Given the description of an element on the screen output the (x, y) to click on. 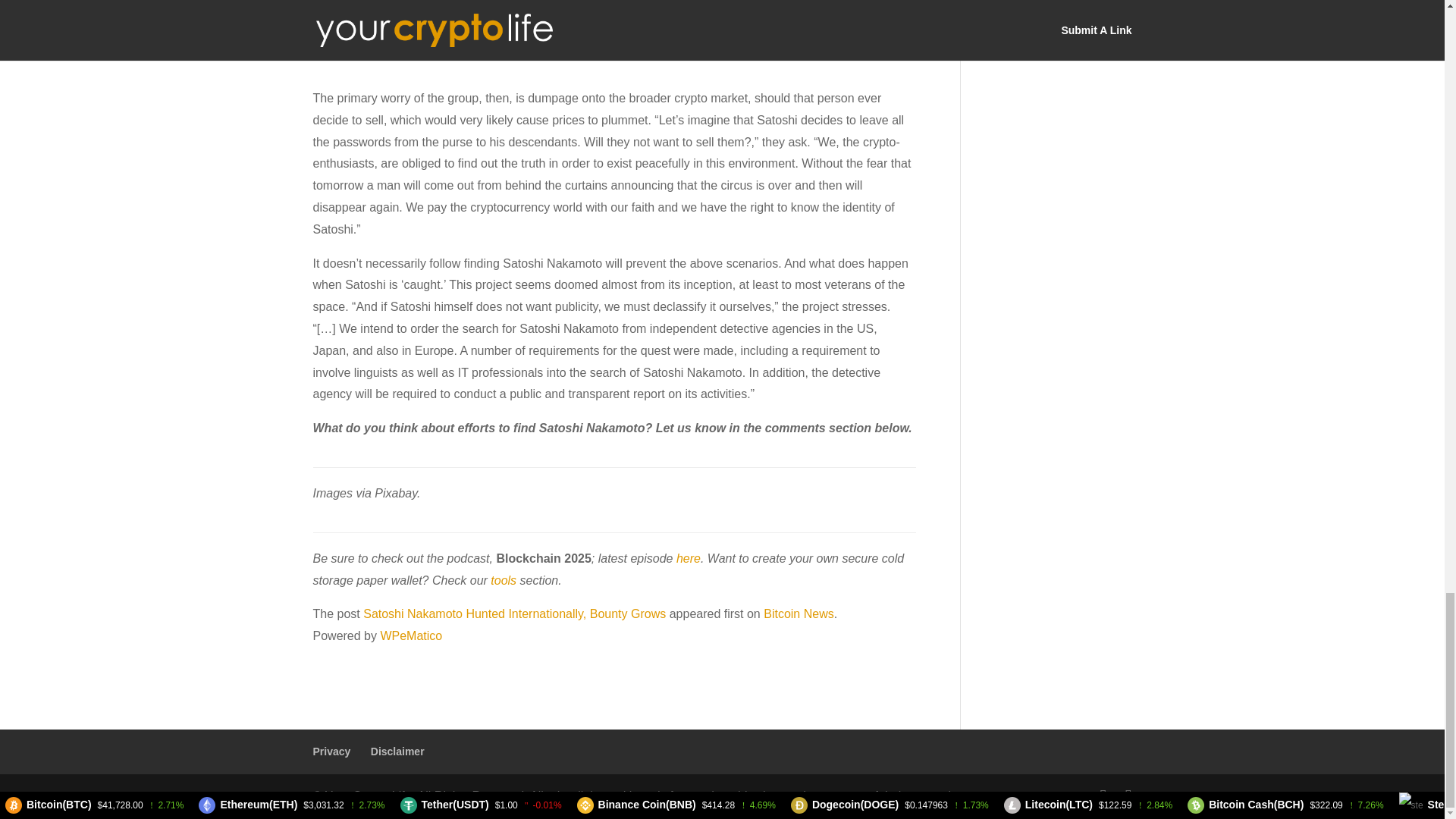
here (688, 558)
Satoshi Nakamoto Hunted Internationally, Bounty Grows (513, 613)
tools (503, 580)
Privacy (331, 751)
Disclaimer (398, 751)
Bitcoin News (797, 613)
WPeMatico (411, 635)
